Given the description of an element on the screen output the (x, y) to click on. 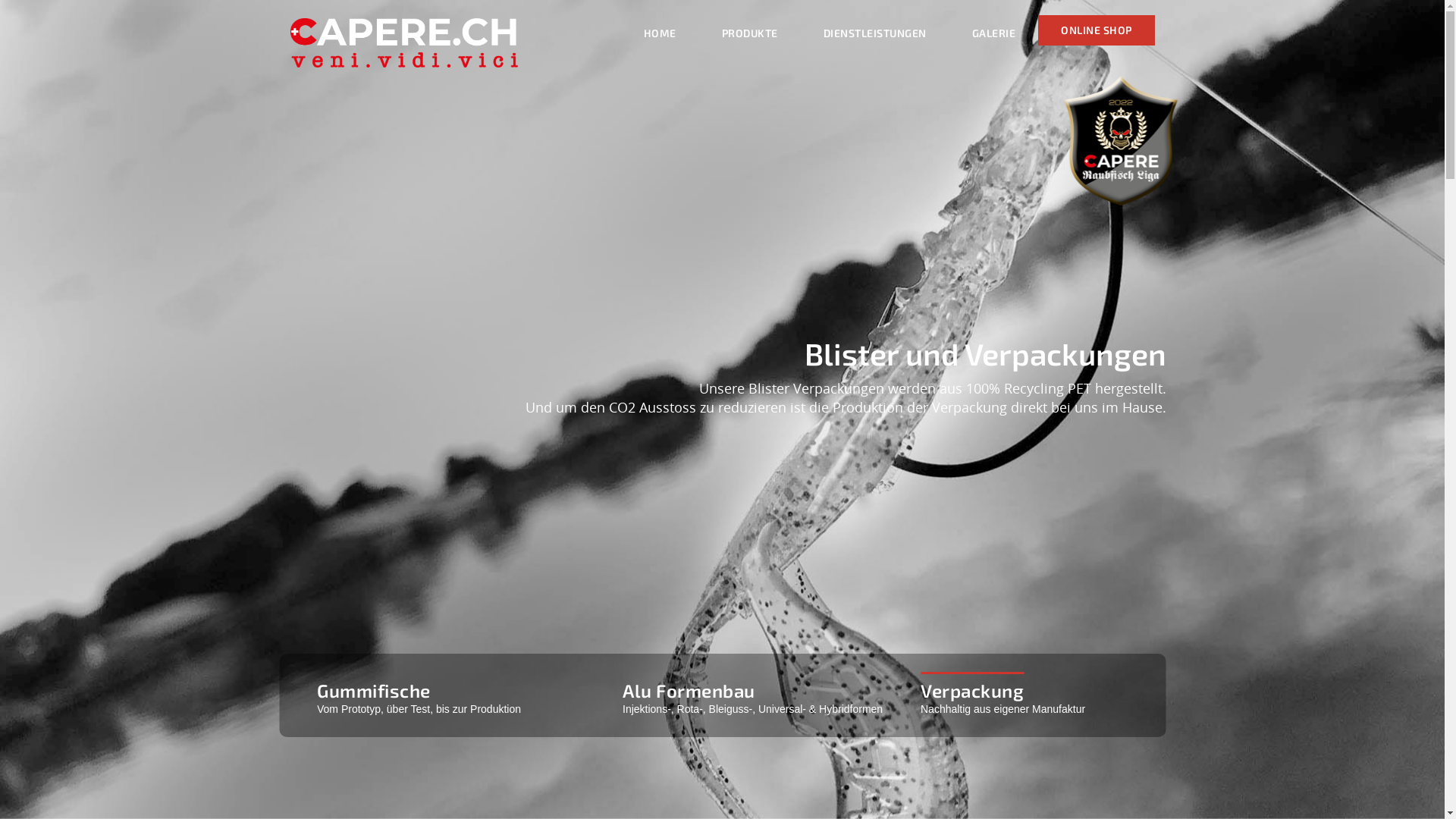
HOME Element type: text (659, 33)
GALERIE Element type: text (993, 33)
DIENSTLEISTUNGEN Element type: text (874, 33)
ONLINE SHOP Element type: text (1096, 30)
PRODUKTE Element type: text (749, 33)
